Given the description of an element on the screen output the (x, y) to click on. 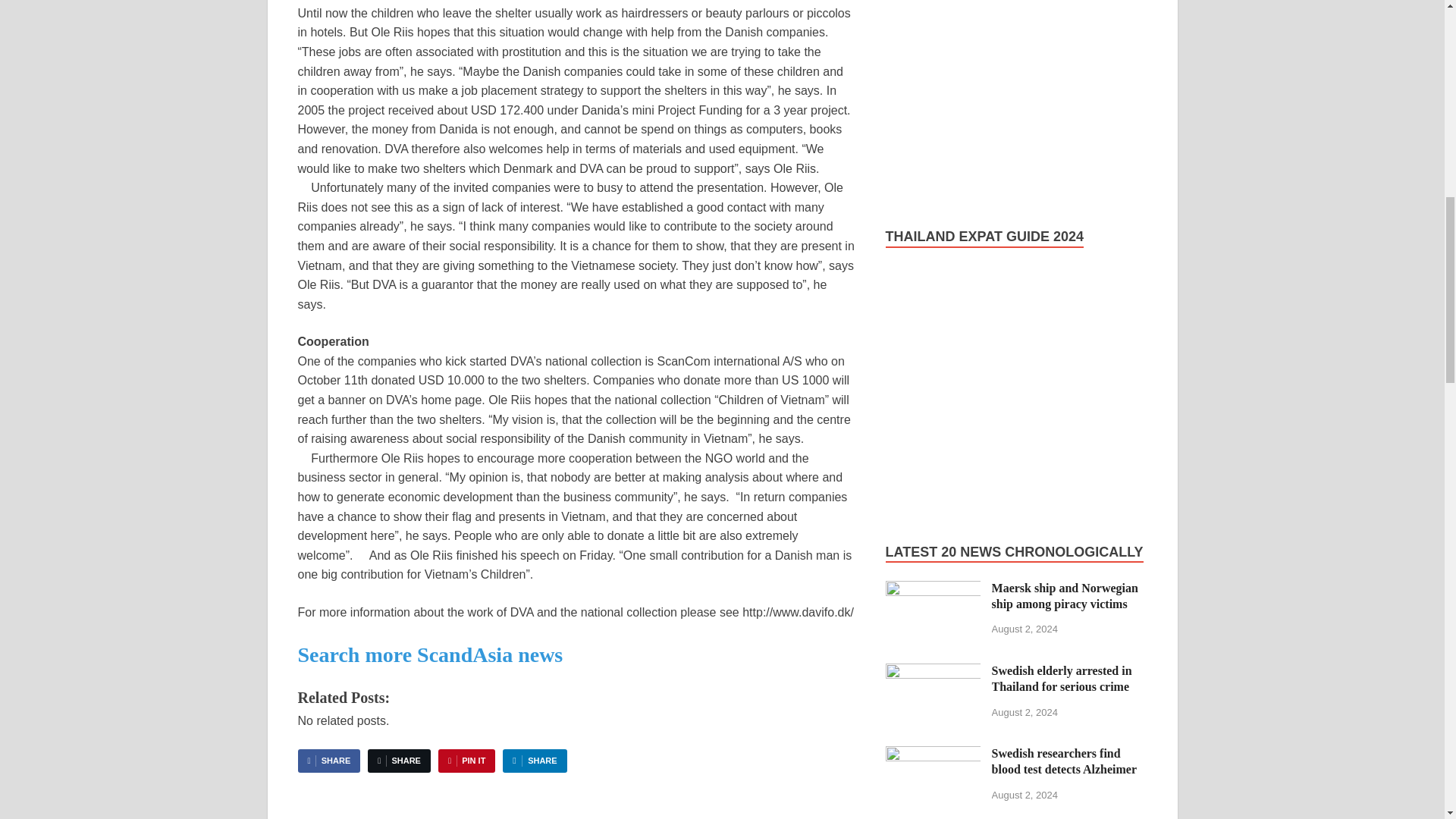
Swedish elderly arrested in Thailand for serious crime (932, 671)
Swedish researchers find blood test detects Alzheimer (932, 754)
Maersk ship and Norwegian ship among piracy victims (932, 589)
